Given the description of an element on the screen output the (x, y) to click on. 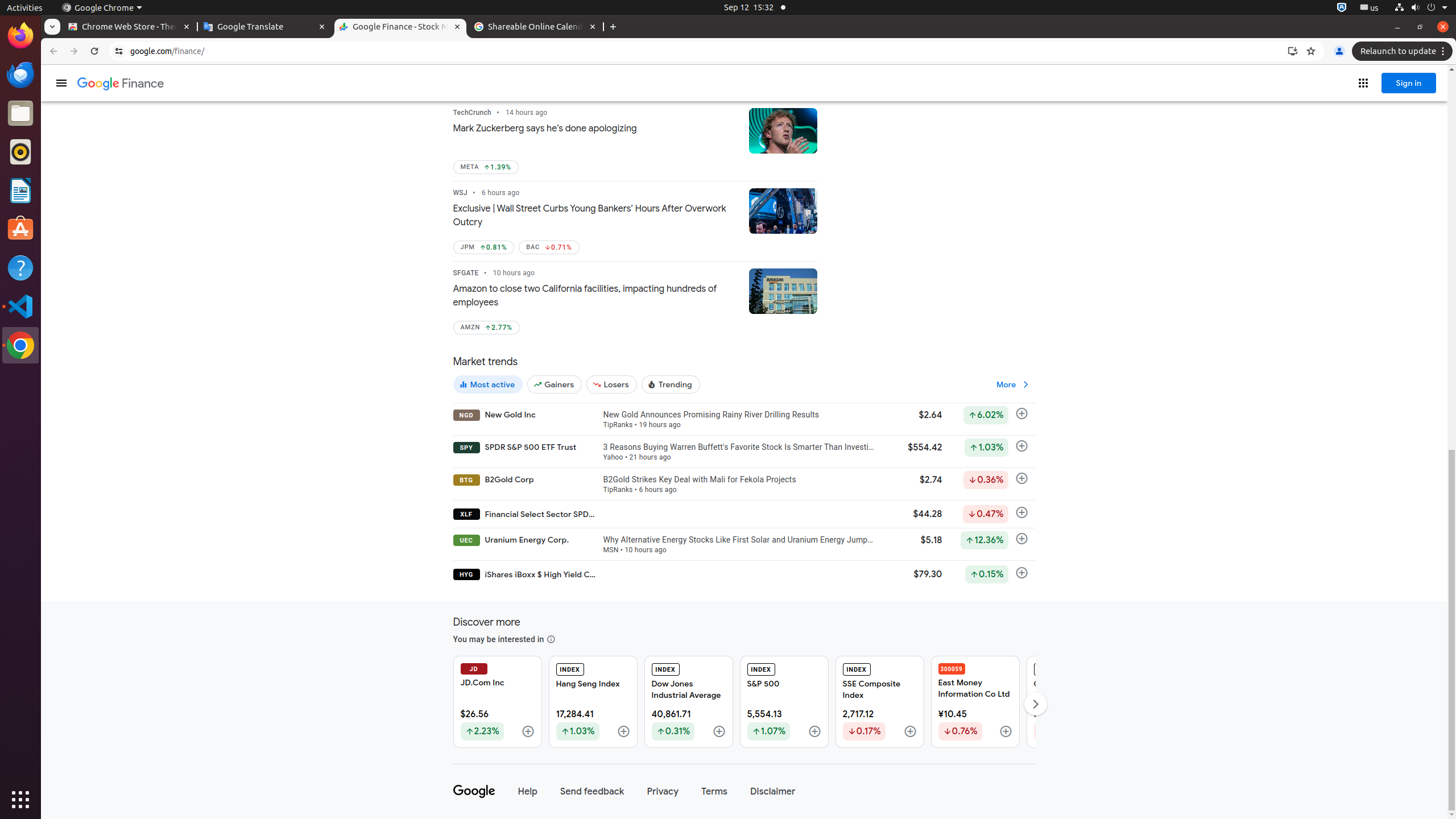
Terms Element type: link (714, 791)
HYG iShares iBoxx $ High Yield Corporate Bond ETF $79.30 Up by 0.15% Follow Element type: link (743, 574)
BTG B2Gold Corp B2Gold Strikes Key Deal with Mali for Fekola Projects TipRanks • 6 hours ago $2.74 Down by 0.36% Follow Element type: link (743, 482)
Next Element type: push-button (1035, 703)
Reload Element type: push-button (94, 50)
